Given the description of an element on the screen output the (x, y) to click on. 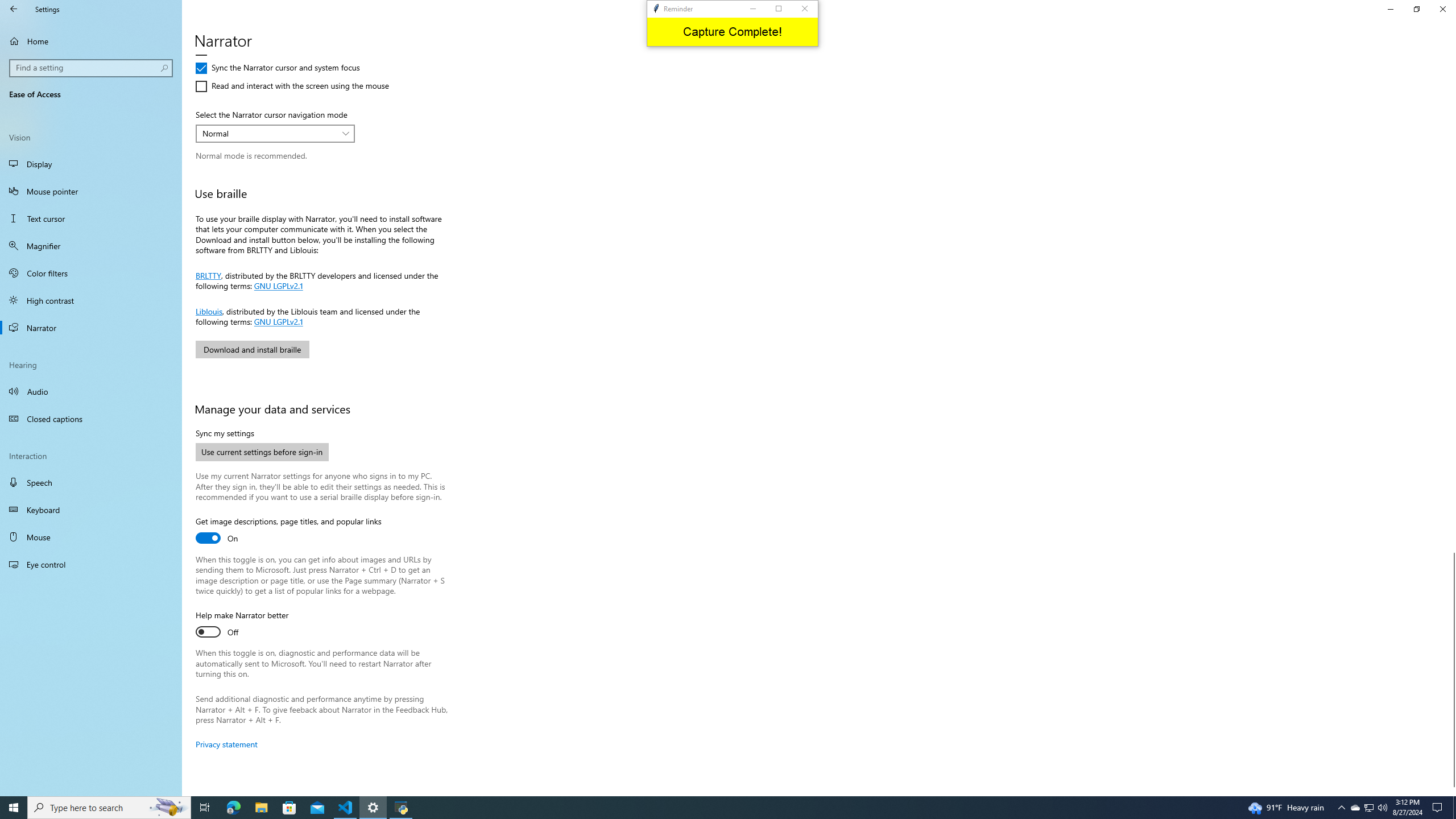
User Promoted Notification Area (1368, 807)
Download and install braille (251, 349)
Restore Settings (1416, 9)
Keyboard (91, 509)
Task View (204, 807)
Search box, Find a setting (91, 67)
Visual Studio Code - 1 running window (345, 807)
Vertical Small Increase (1451, 791)
Color filters (91, 272)
Q2790: 100% (1382, 807)
Magnifier (91, 245)
Show desktop (1454, 807)
Read and interact with the screen using the mouse (292, 85)
Sync the Narrator cursor and system focus (277, 67)
